Given the description of an element on the screen output the (x, y) to click on. 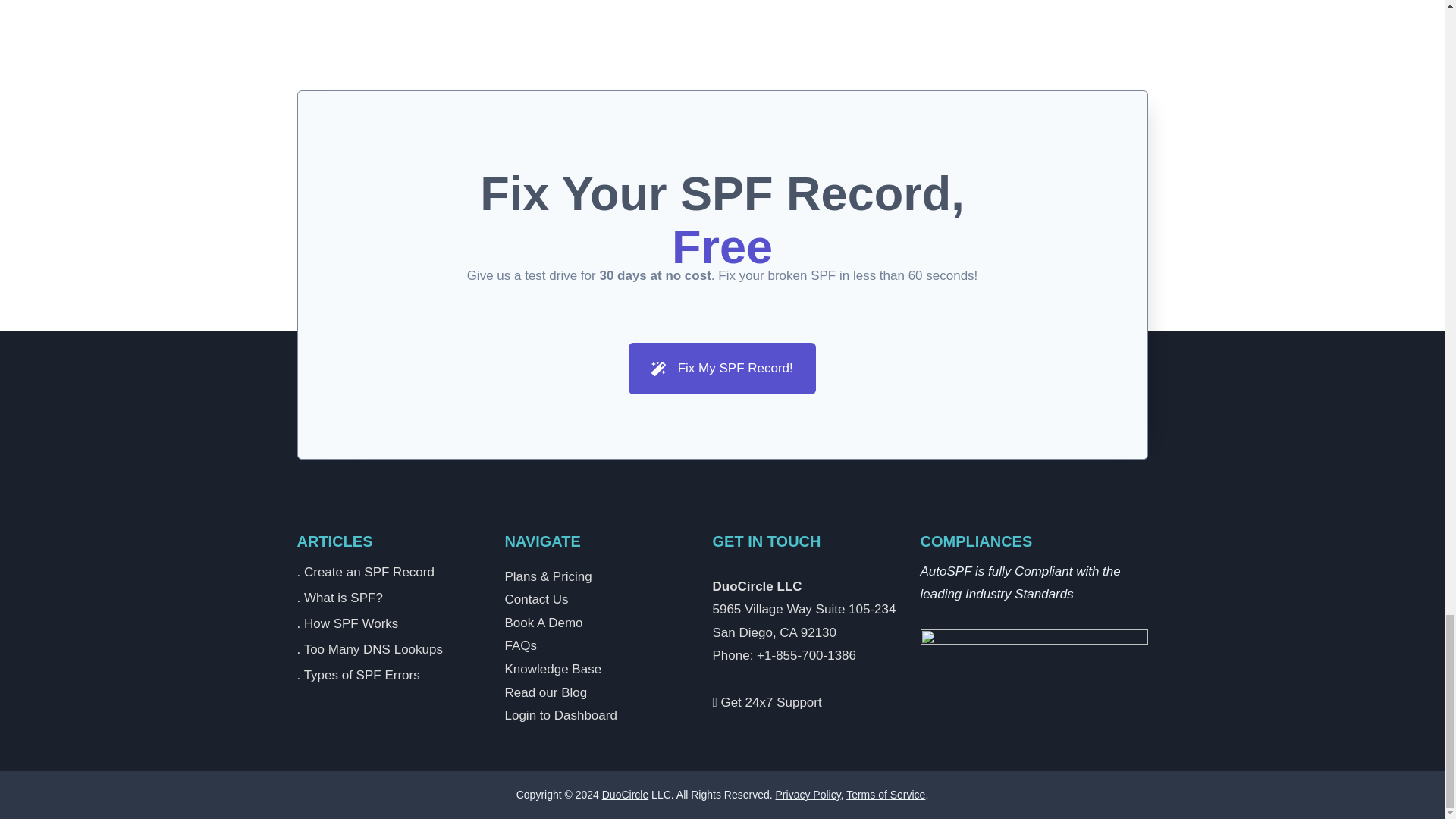
Knowledge Base (553, 668)
. Create an SPF Record (389, 573)
Terms of Service (884, 794)
Read our Blog (546, 692)
FAQs (521, 645)
DuoCircle (624, 794)
Fix My SPF Record! (721, 368)
Contact Us (537, 599)
. What is SPF? (389, 598)
. How SPF Works (389, 624)
